Given the description of an element on the screen output the (x, y) to click on. 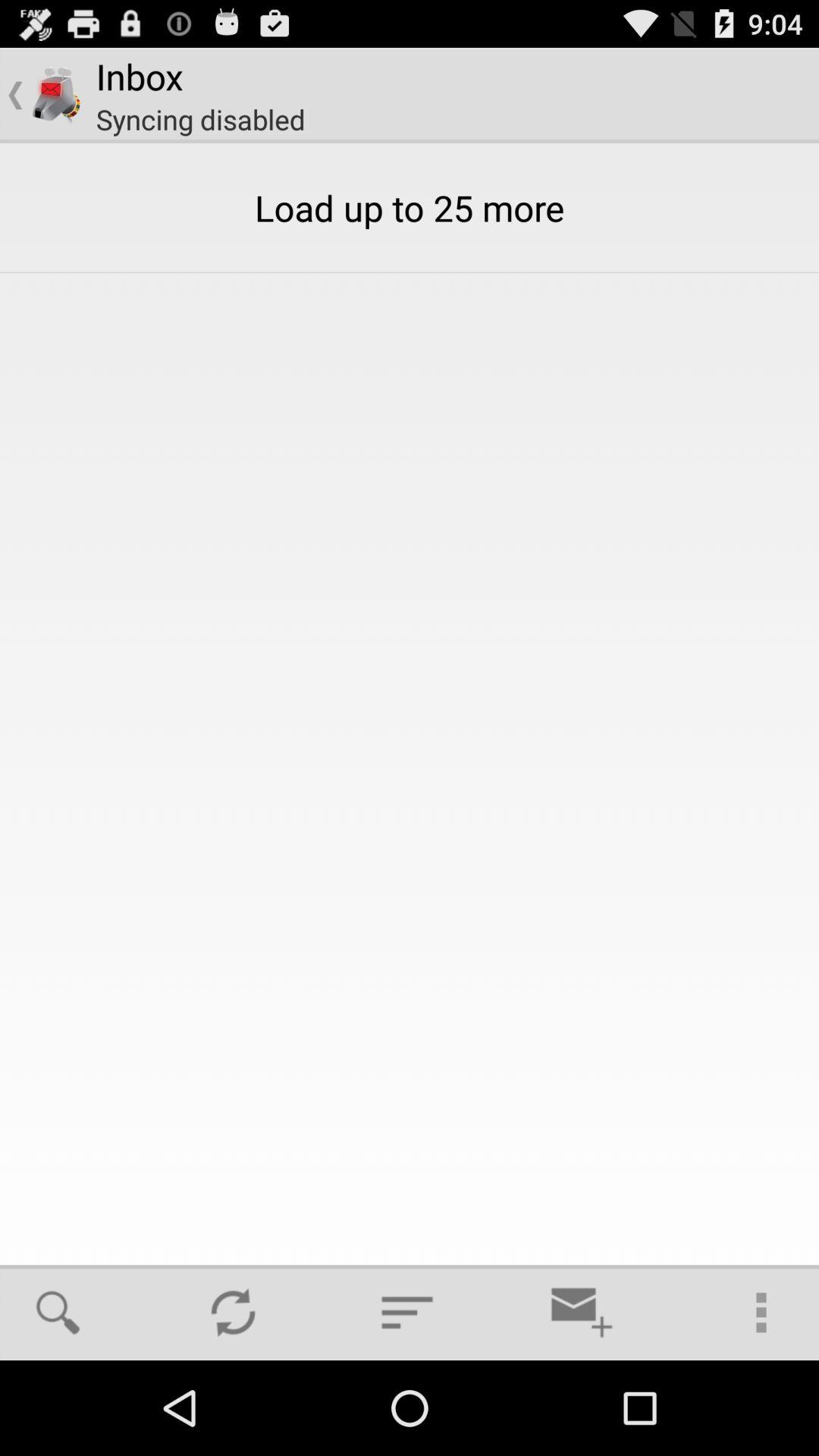
click item below load up to icon (232, 1312)
